Given the description of an element on the screen output the (x, y) to click on. 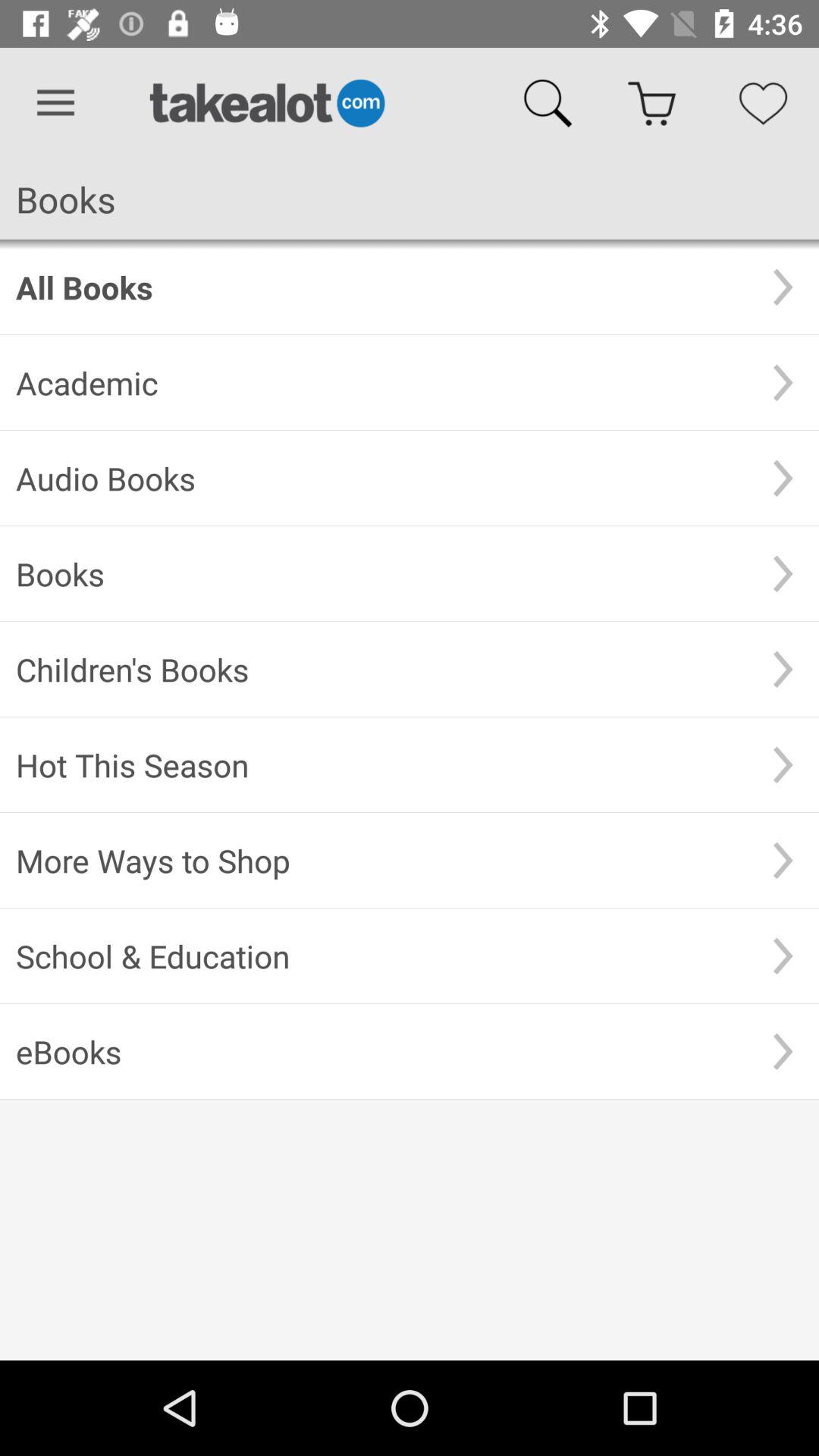
tap the icon above the school & education icon (381, 860)
